Given the description of an element on the screen output the (x, y) to click on. 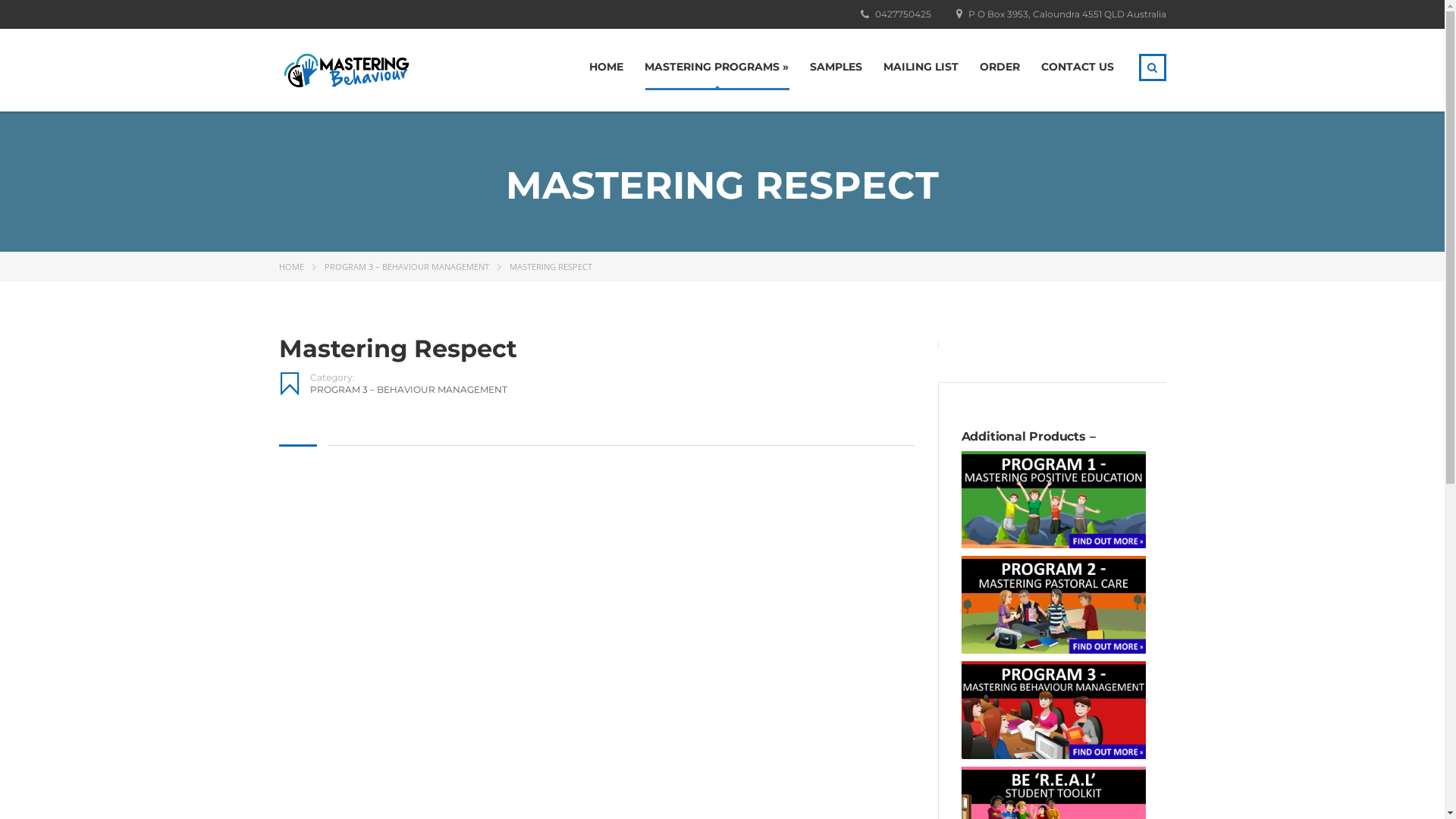
CONTACT US Element type: text (1076, 66)
HOME Element type: text (605, 66)
Subscribe Element type: text (936, 719)
MAILING LIST Element type: text (919, 66)
Contact Us Element type: text (620, 771)
Subscribe to mailing list Element type: text (647, 724)
Privacy Policy Element type: text (625, 748)
ORDER Element type: text (999, 66)
HOME Element type: text (291, 266)
SAMPLES Element type: text (835, 66)
